Given the description of an element on the screen output the (x, y) to click on. 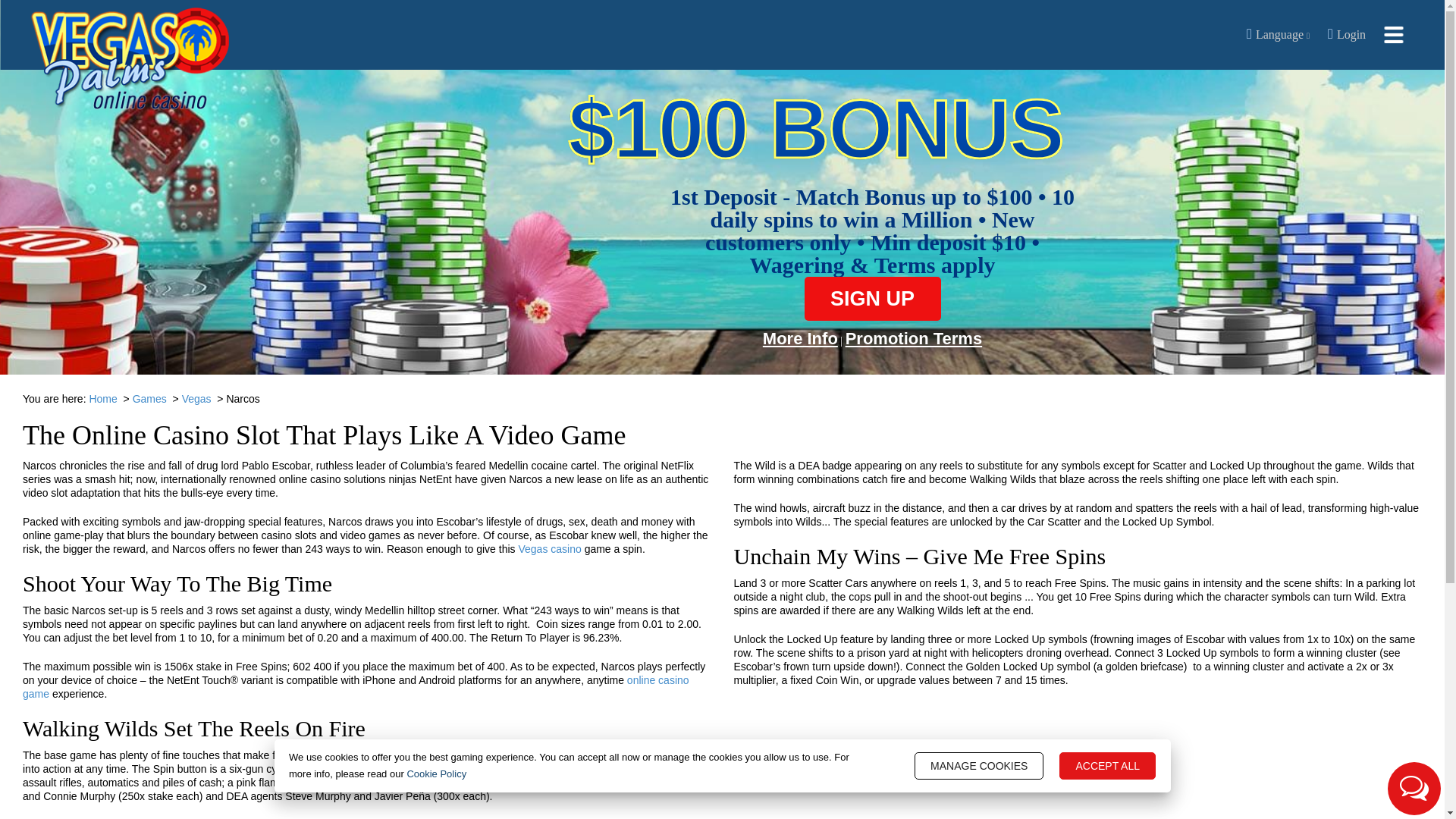
Vegas Palms Casino (130, 58)
Language (1281, 34)
Login (1348, 34)
